Given the description of an element on the screen output the (x, y) to click on. 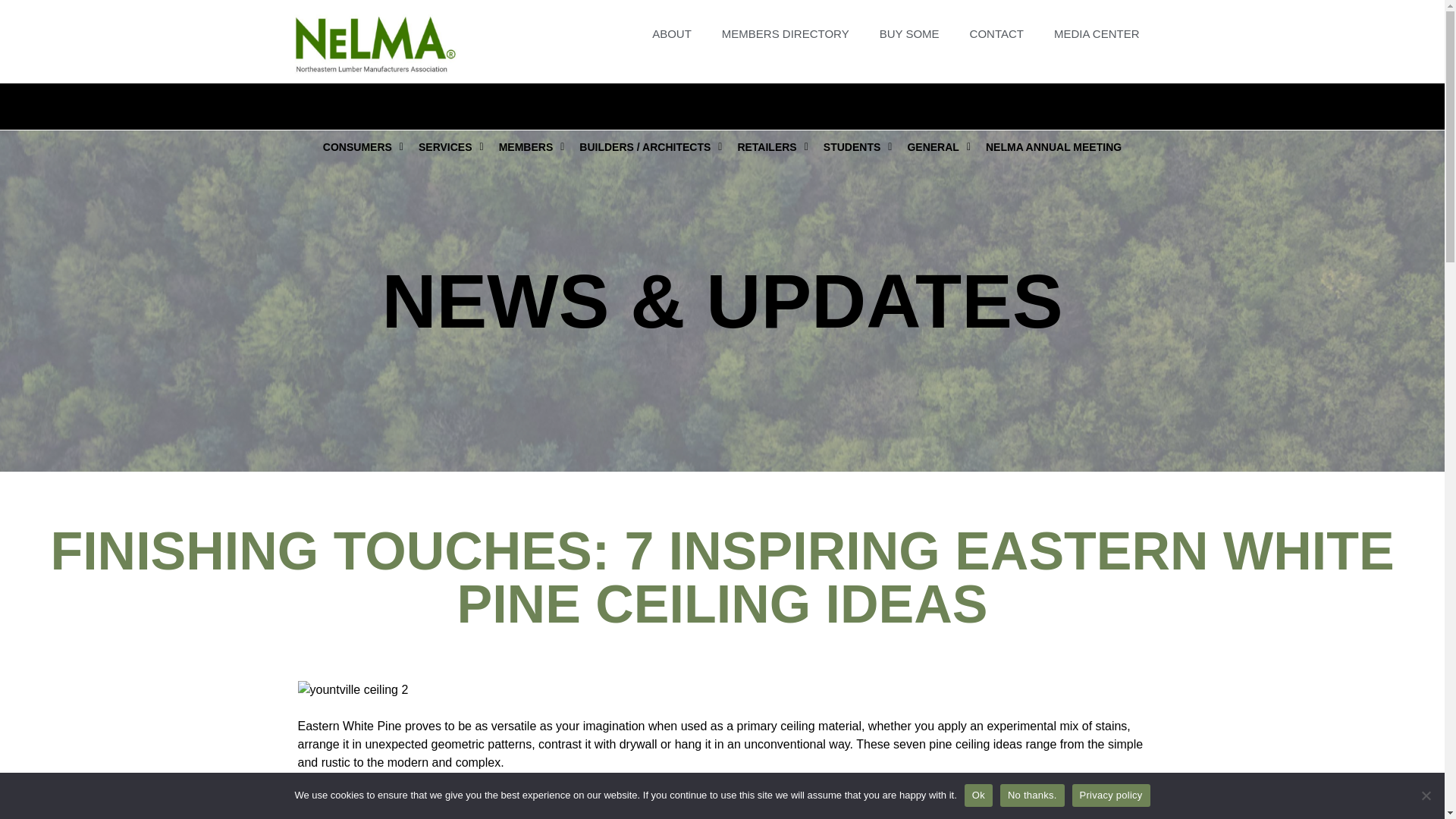
ABOUT (671, 33)
BUY SOME (909, 33)
MEDIA CENTER (1096, 33)
No thanks. (1425, 795)
MEMBERS DIRECTORY (785, 33)
CONTACT (997, 33)
